Given the description of an element on the screen output the (x, y) to click on. 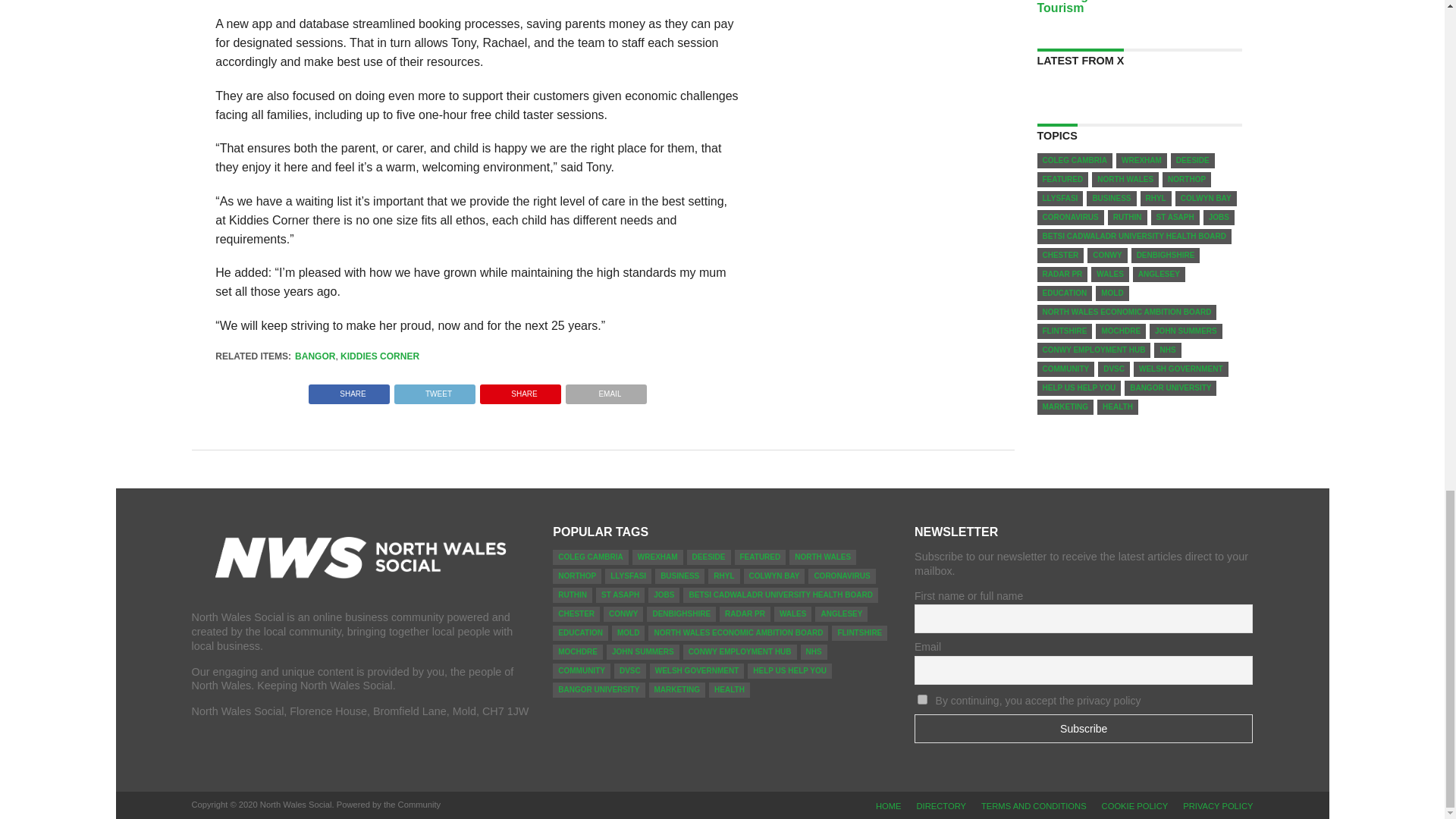
Share on Facebook (349, 390)
Pin This Post (520, 390)
Subscribe (1083, 728)
on (922, 699)
Tweet This Post (434, 390)
